Given the description of an element on the screen output the (x, y) to click on. 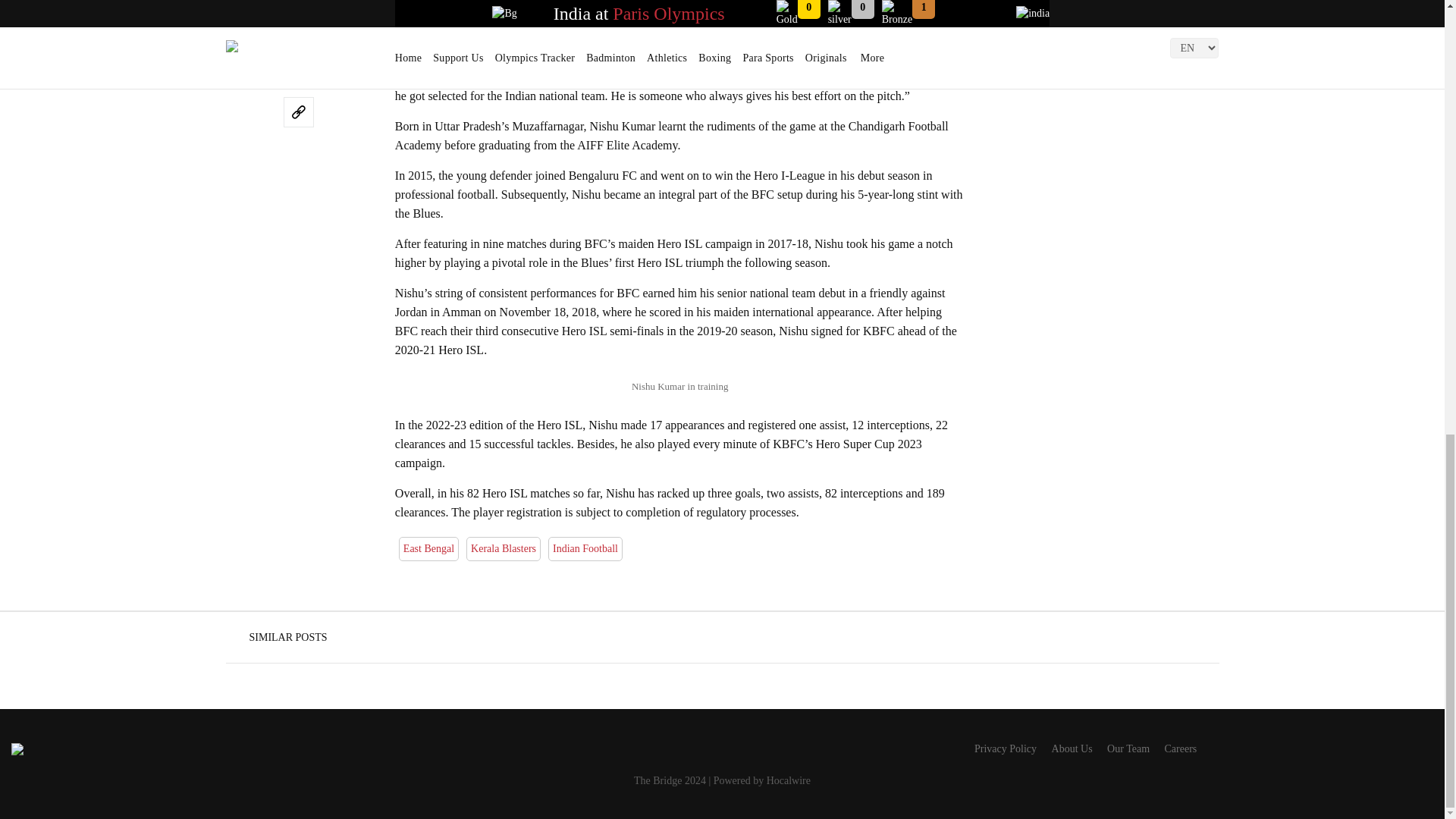
Share by Email (298, 3)
